Given the description of an element on the screen output the (x, y) to click on. 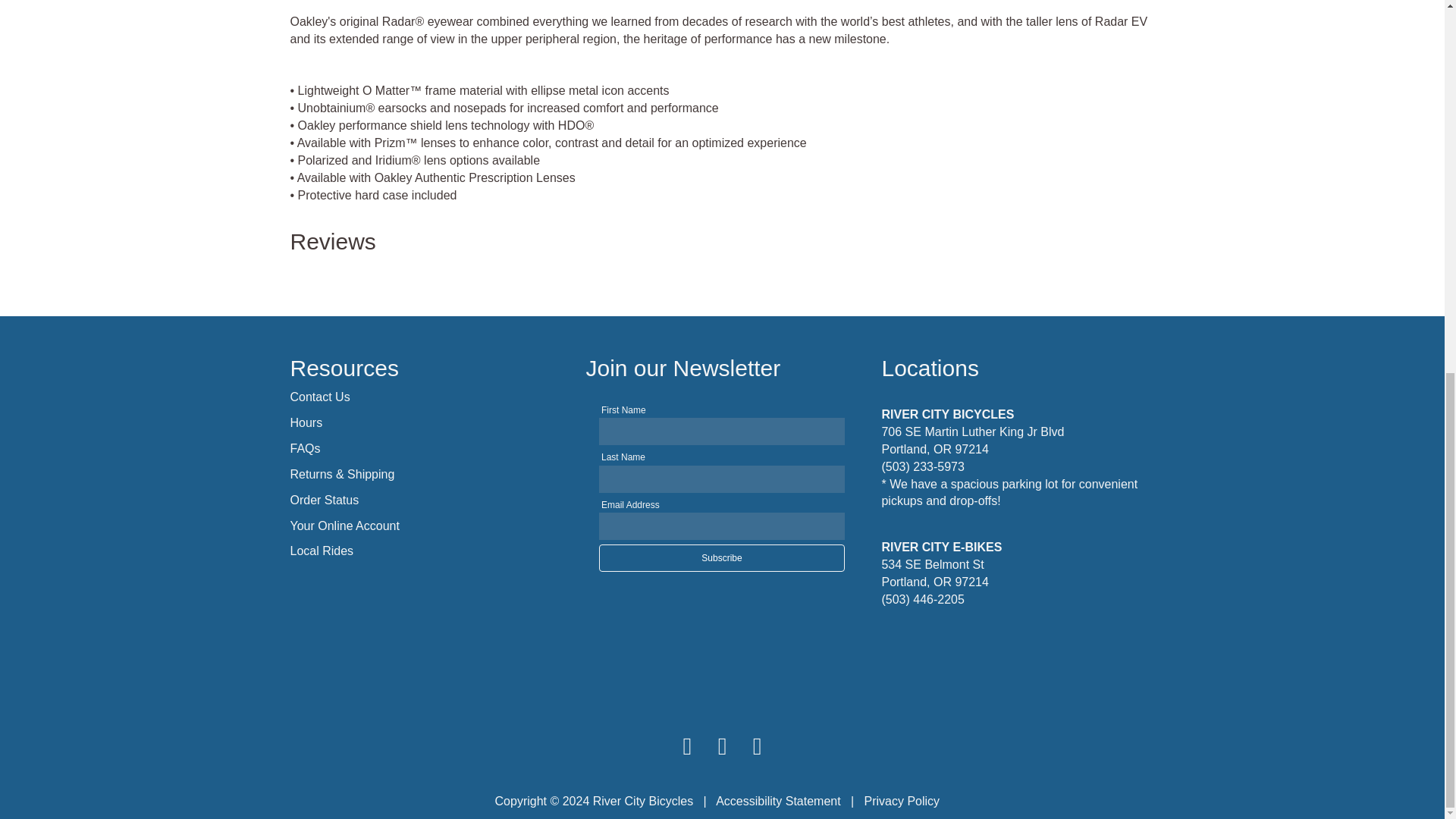
Policies and Shipping (323, 499)
